Given the description of an element on the screen output the (x, y) to click on. 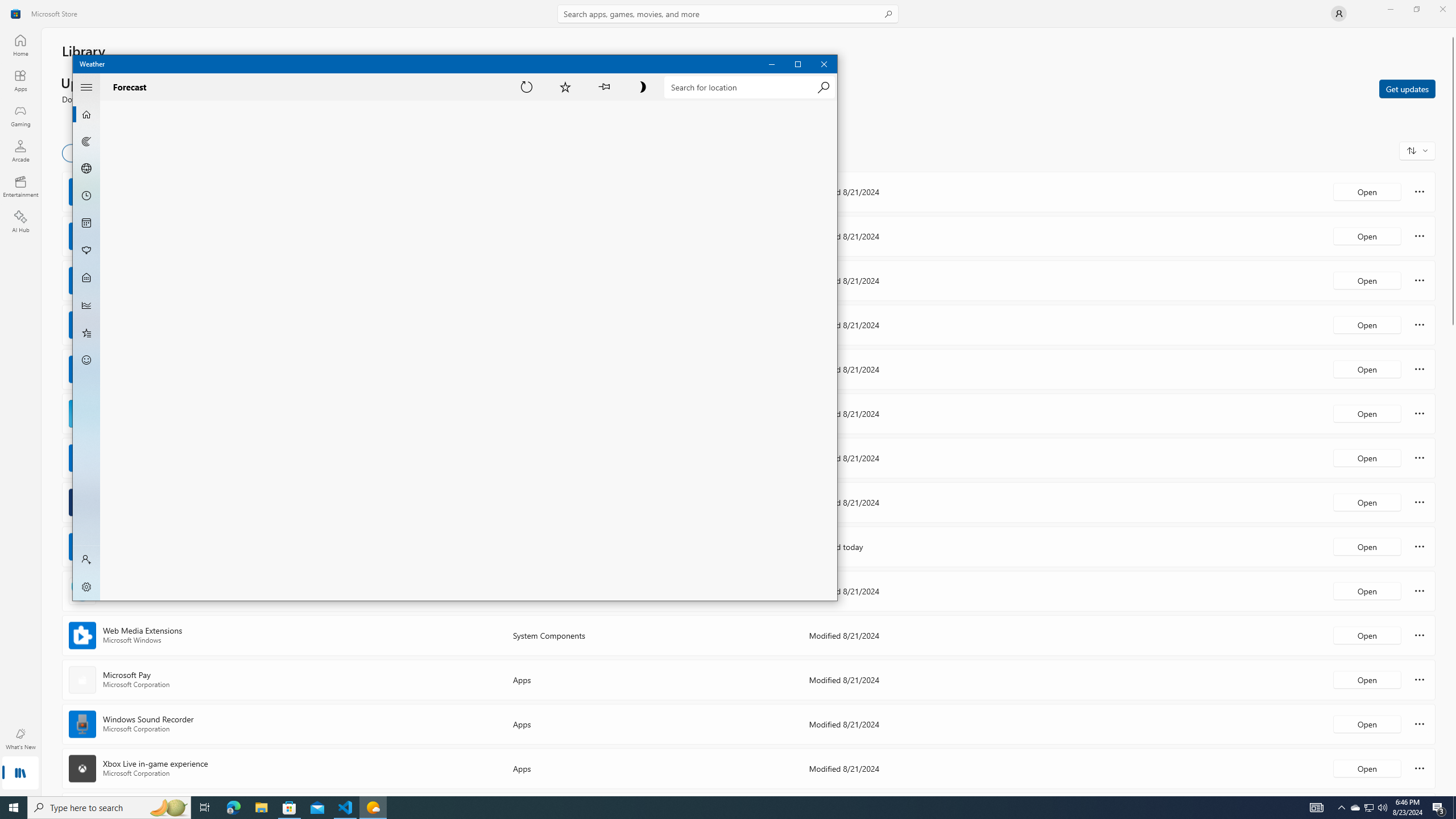
File Explorer (261, 807)
User profile (1338, 13)
Q2790: 100% (1382, 807)
Search (727, 13)
Visual Studio Code - 1 running window (1355, 807)
Search highlights icon opens search home window (345, 807)
AutomationID: 4105 (167, 807)
Vertical Large Increase (1316, 807)
Minimize Microsoft Store (1452, 557)
Close Microsoft Store (1390, 9)
